Given the description of an element on the screen output the (x, y) to click on. 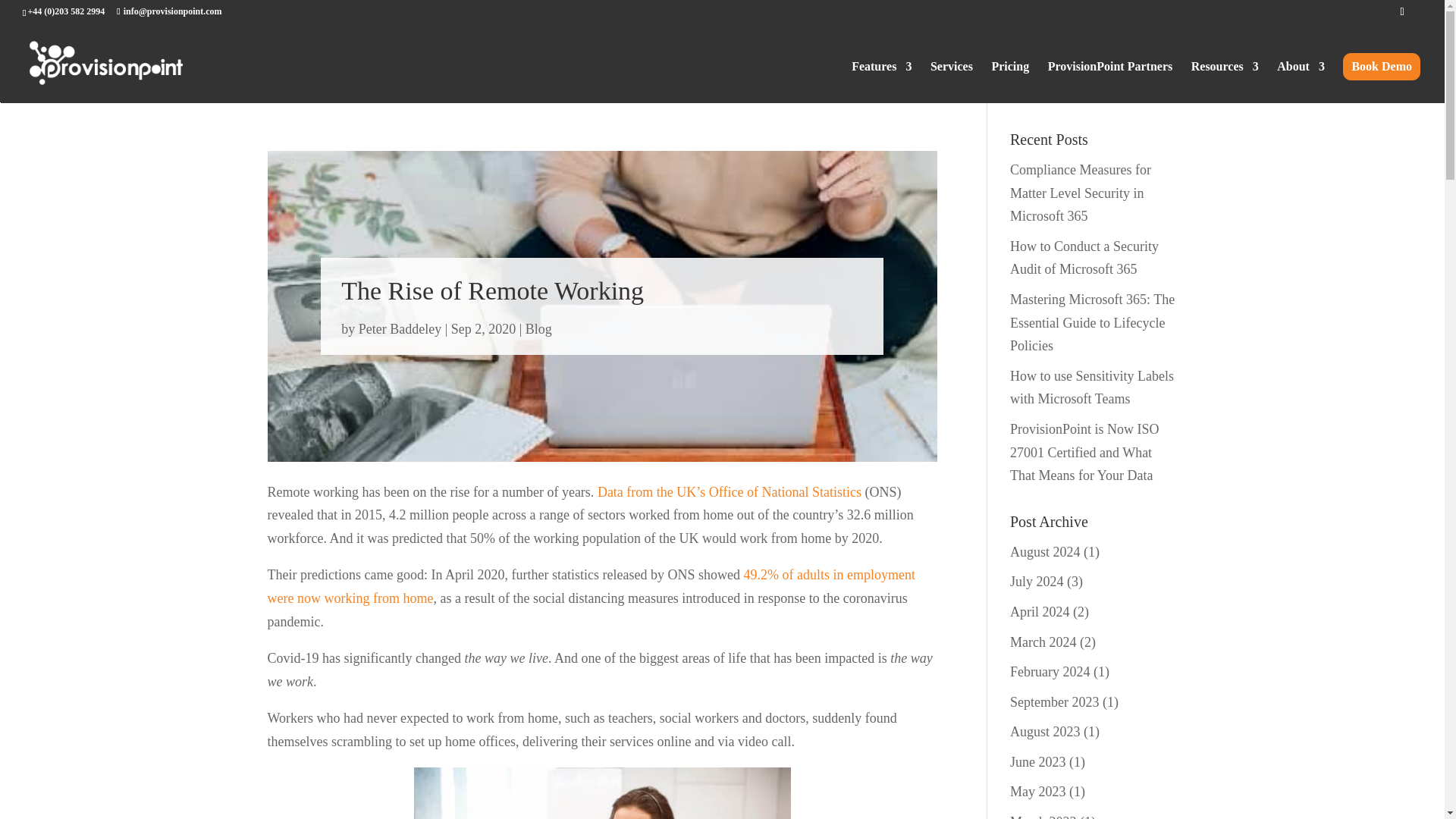
Services (951, 81)
Resources (1225, 81)
Pricing (1010, 81)
About (1300, 81)
Book Demo (1381, 66)
Features (881, 81)
ProvisionPoint Partners (1110, 81)
Posts by Peter Baddeley (399, 328)
